Given the description of an element on the screen output the (x, y) to click on. 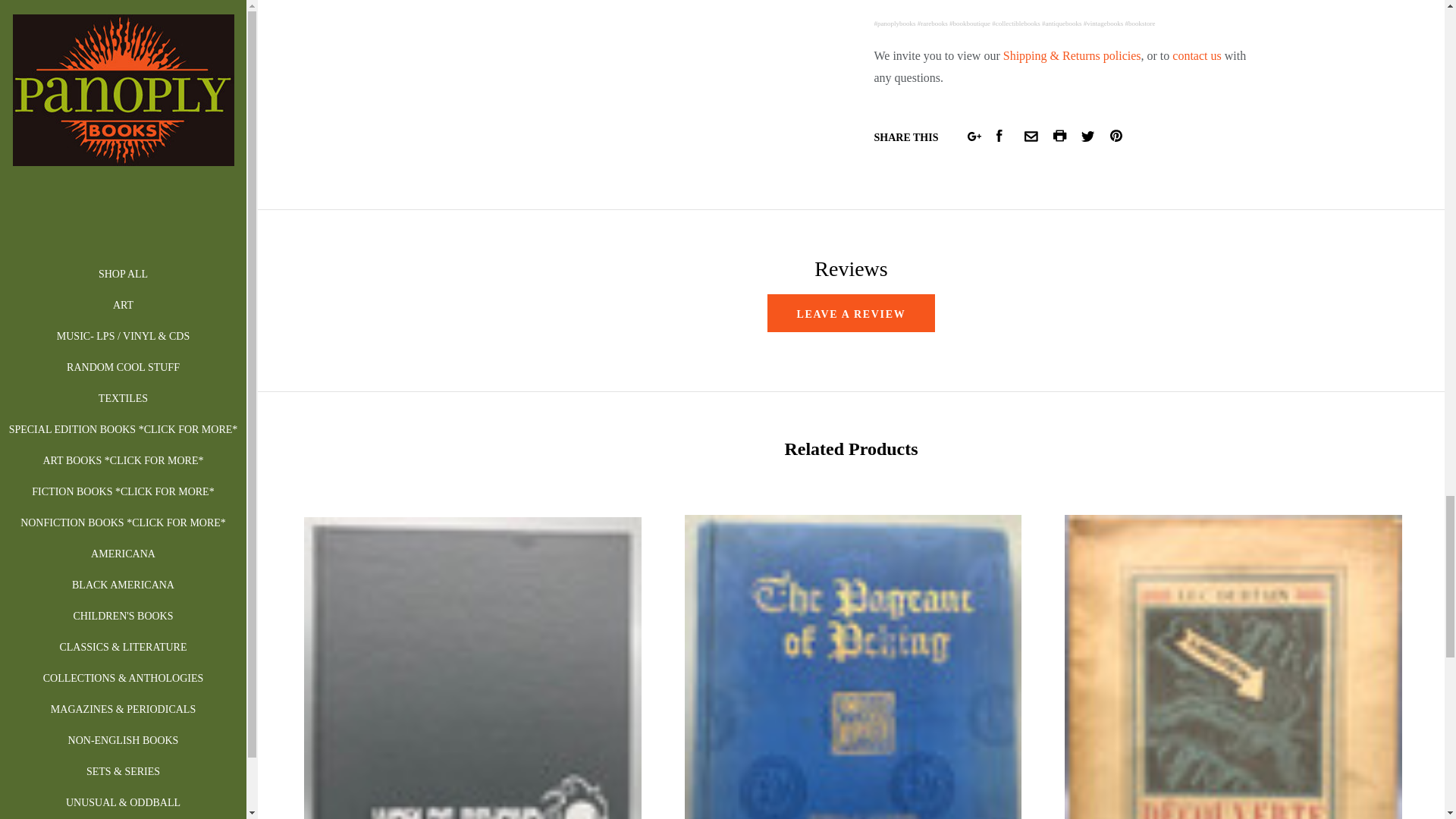
PRINT (1059, 135)
PINTEREST (1115, 135)
GOOGLE PLUS (974, 136)
TWITTER (1087, 136)
Contact Form (1196, 55)
EMAIL (1031, 136)
